Given the description of an element on the screen output the (x, y) to click on. 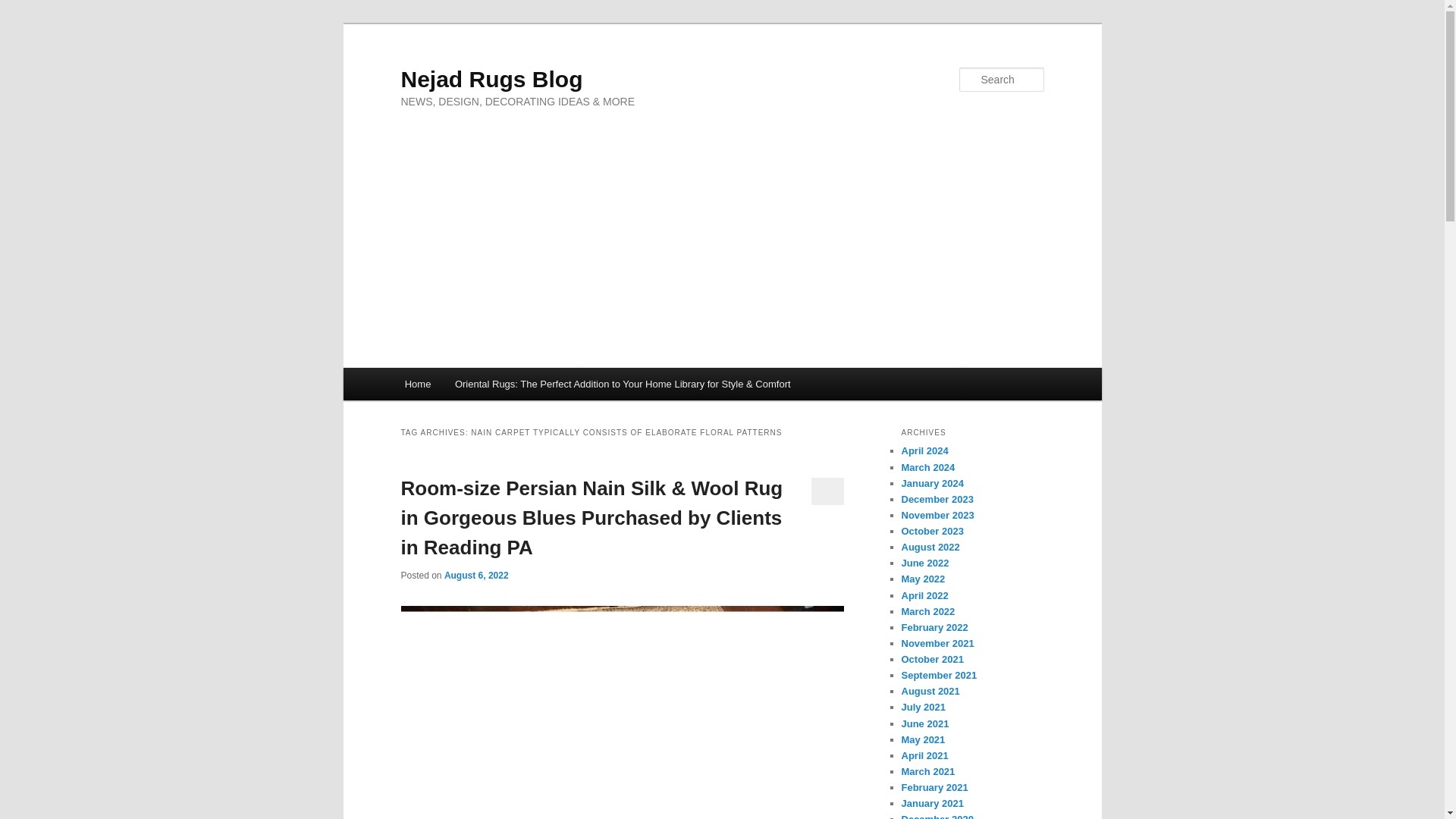
December 2023 (936, 499)
November 2023 (937, 514)
Home (417, 383)
August 6, 2022 (476, 575)
March 2024 (928, 467)
June 2022 (925, 562)
May 2022 (922, 578)
October 2023 (931, 531)
April 2024 (924, 450)
August 2022 (930, 546)
